Given the description of an element on the screen output the (x, y) to click on. 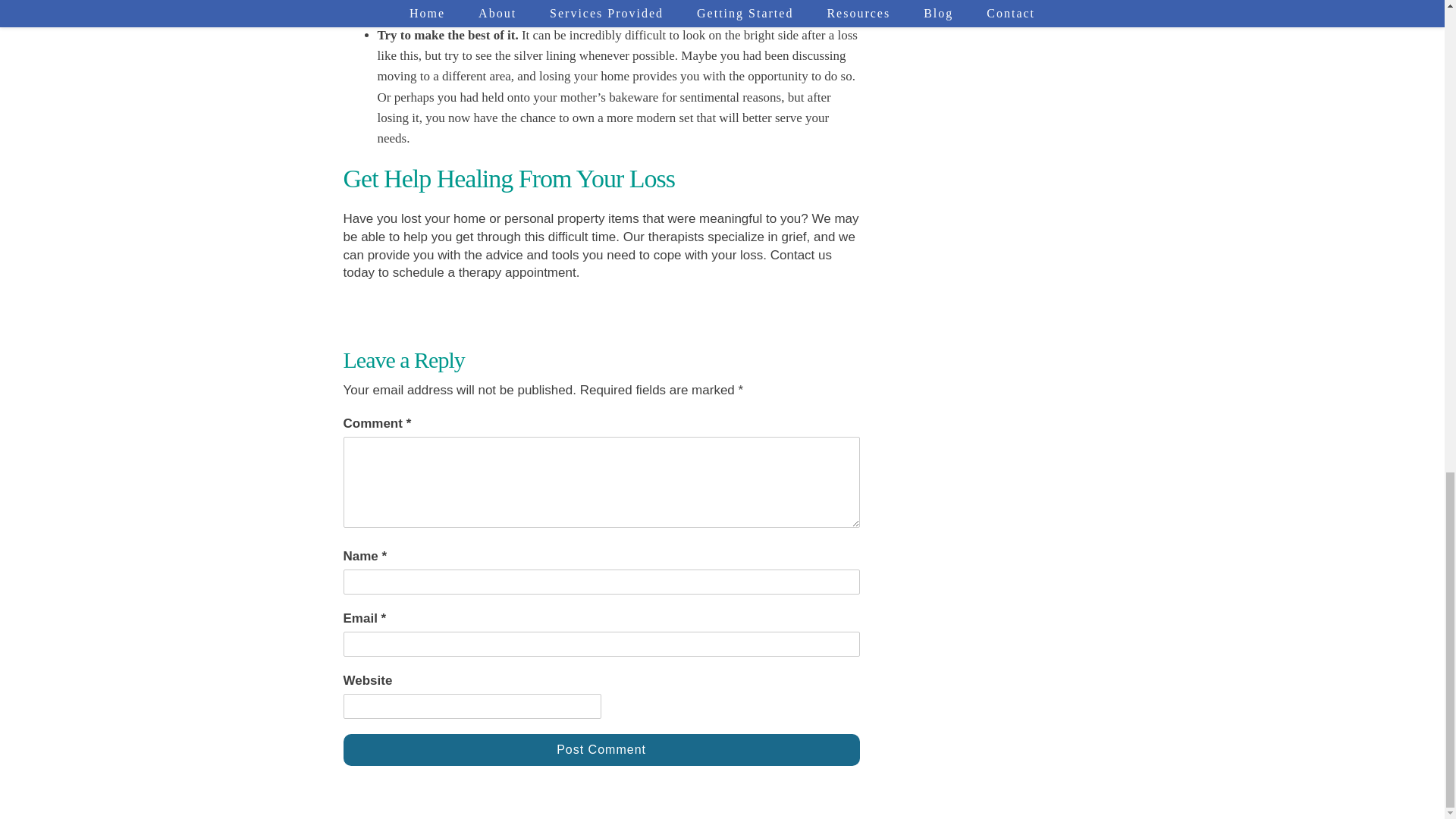
Post Comment (600, 749)
Post Comment (600, 749)
